Given the description of an element on the screen output the (x, y) to click on. 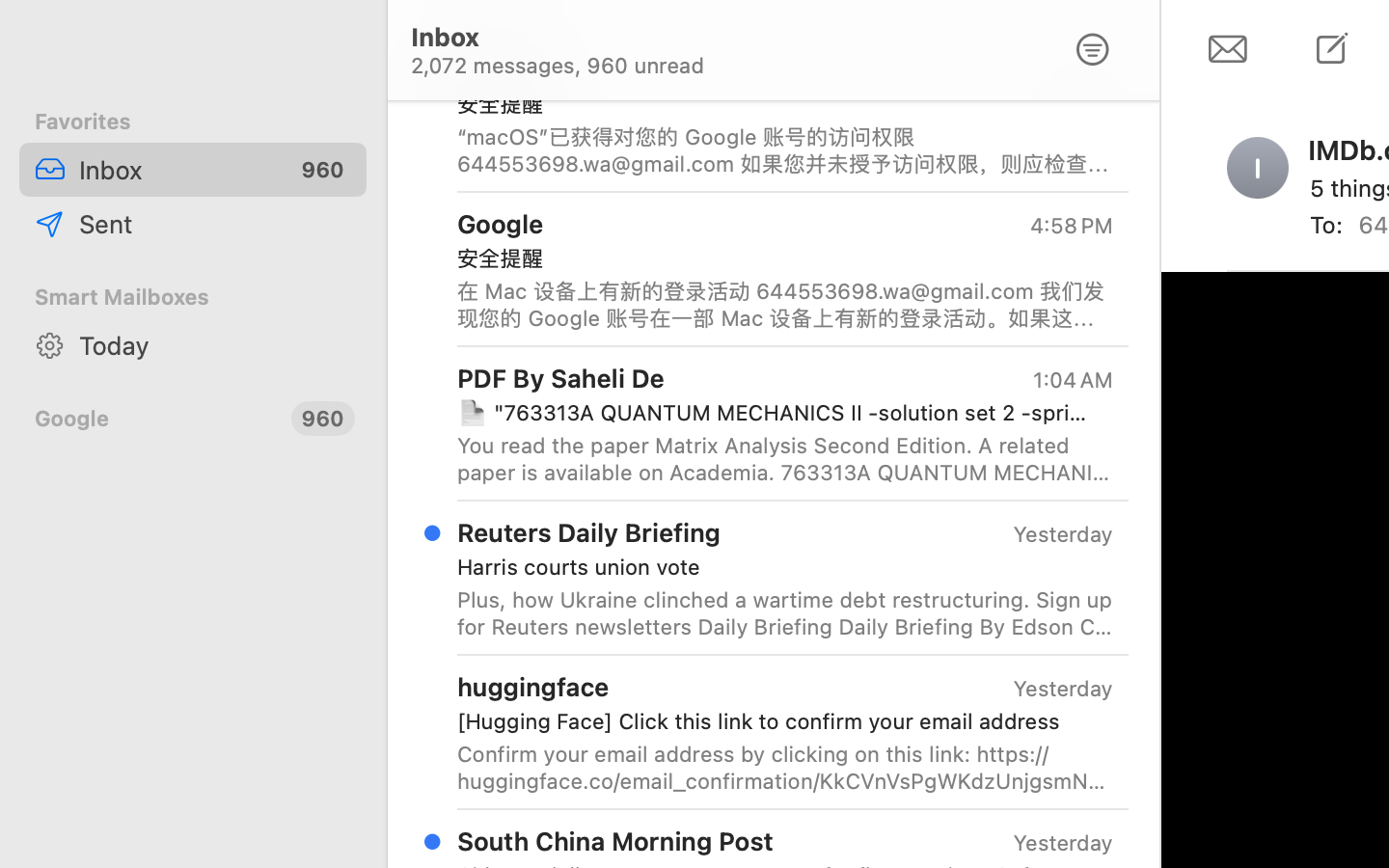
Smart Mailboxes Element type: AXStaticText (192, 296)
huggingface Element type: AXStaticText (533, 686)
1:04 AM Element type: AXStaticText (1071, 379)
Harris courts union vote Element type: AXStaticText (777, 566)
Sent Element type: AXStaticText (214, 223)
